Given the description of an element on the screen output the (x, y) to click on. 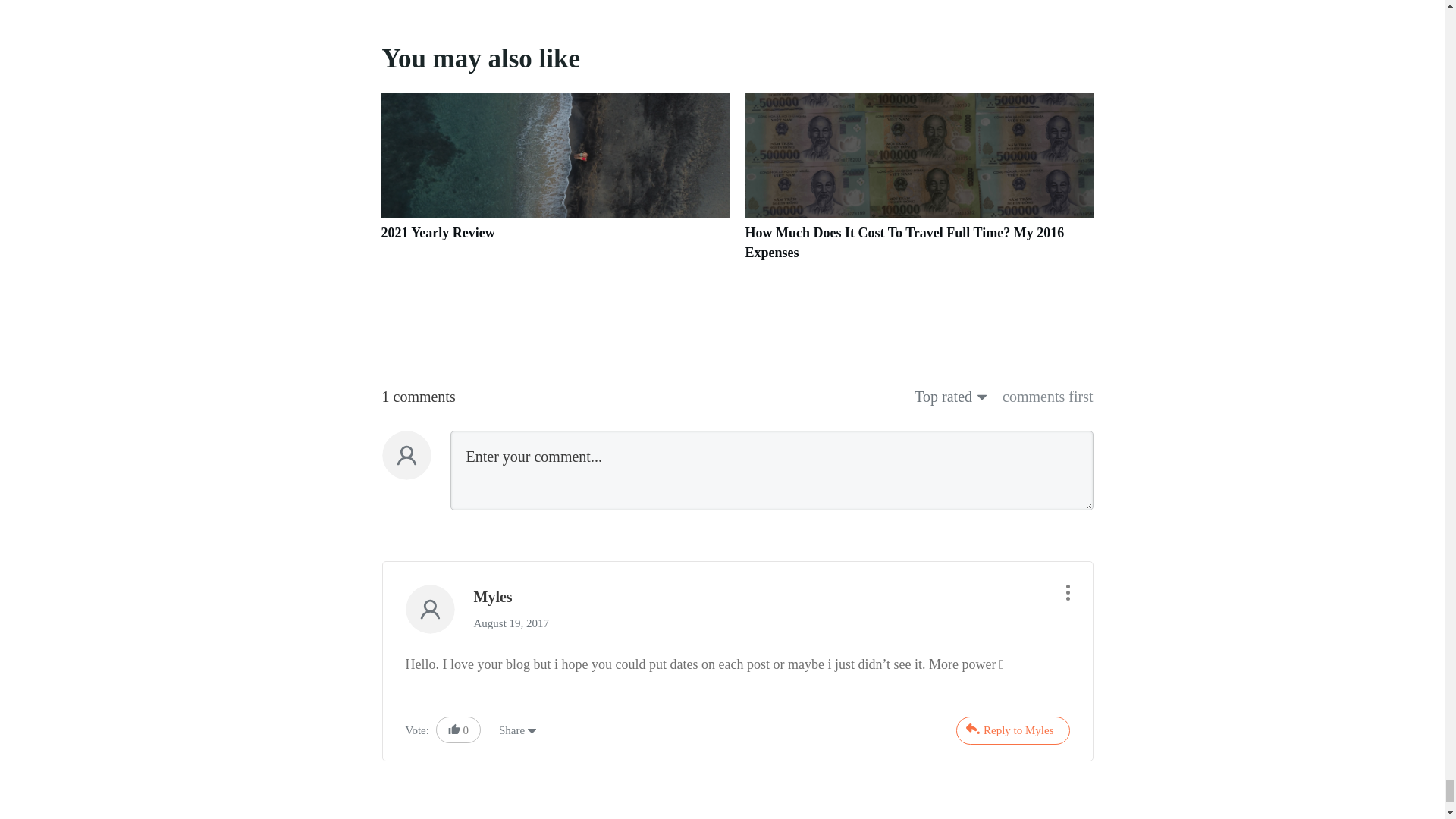
Reply to Myles (1013, 730)
Comment Author Image (429, 608)
How Much Does It Cost To Travel Full Time? My 2016 Expenses (918, 184)
2021 Yearly Review (554, 184)
2021 Yearly Review (437, 232)
2021 Yearly Review (437, 232)
0 (457, 729)
How Much Does It Cost To Travel Full Time? My 2016 Expenses (904, 242)
How Much Does It Cost To Travel Full Time? My 2016 Expenses (904, 242)
